Given the description of an element on the screen output the (x, y) to click on. 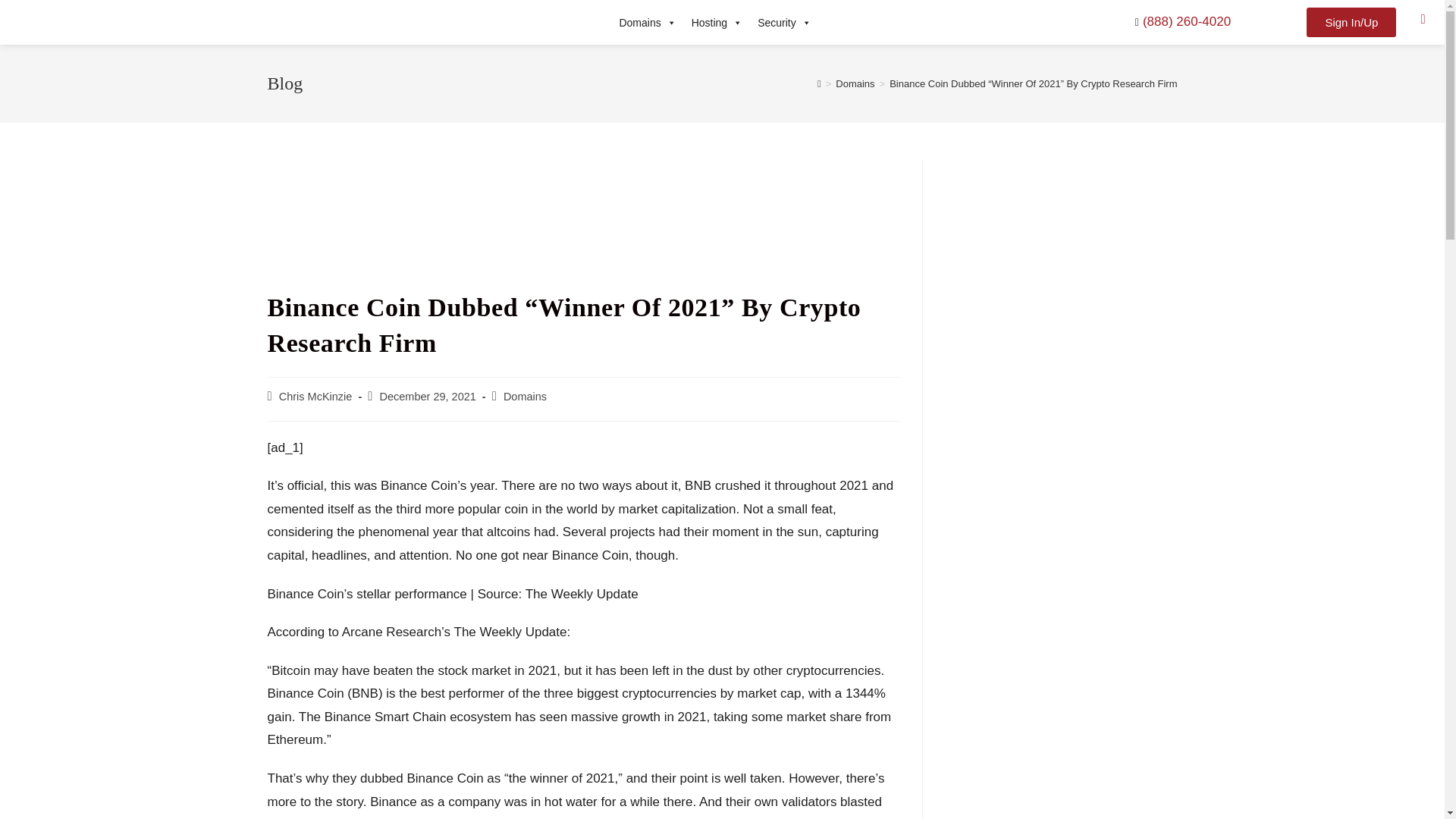
Posts by Chris McKinzie (315, 396)
Security (783, 22)
Domains (646, 22)
Hosting (716, 22)
